Given the description of an element on the screen output the (x, y) to click on. 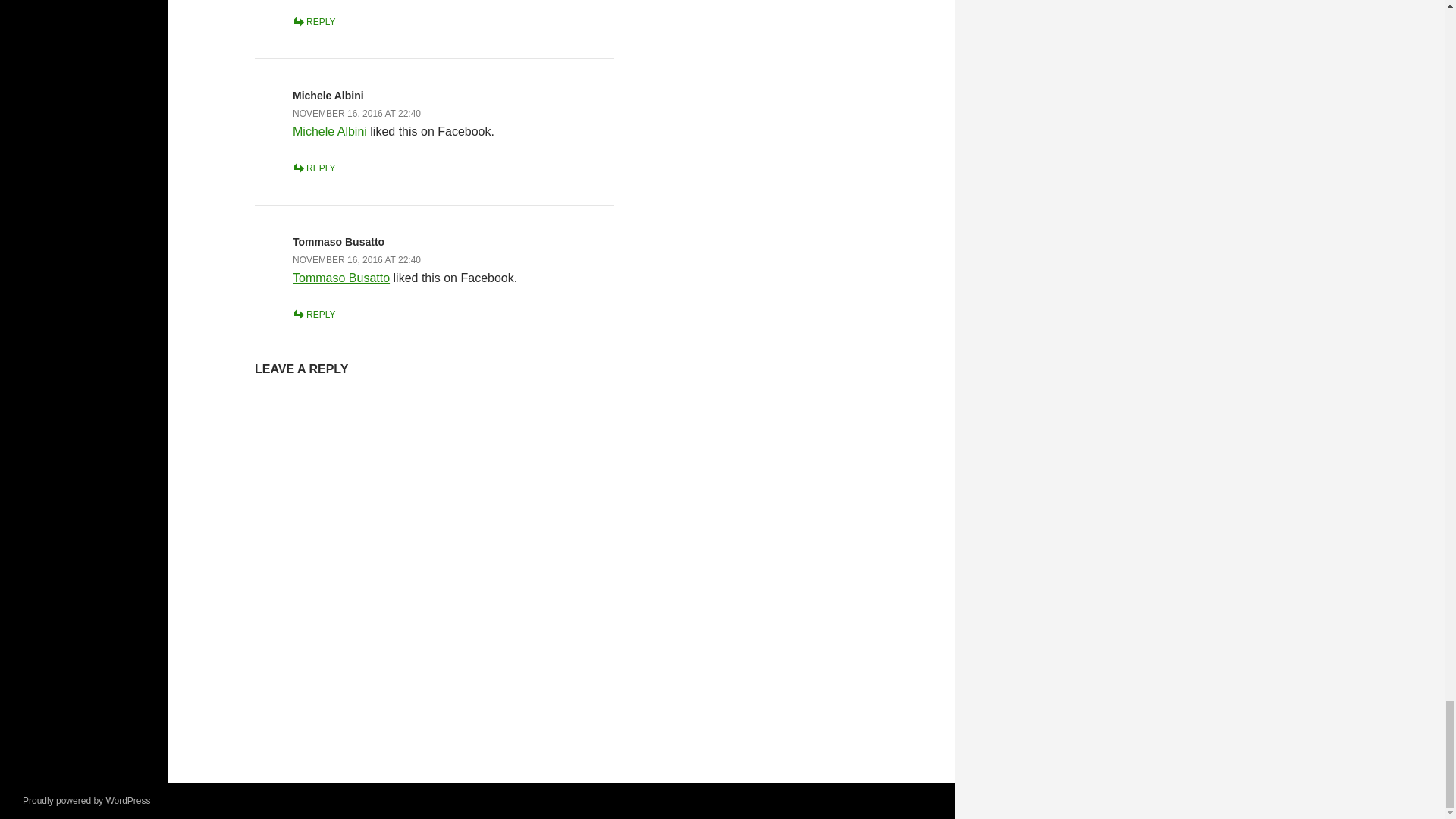
Comment Form (434, 559)
Michele Albini (328, 95)
REPLY (313, 21)
